Given the description of an element on the screen output the (x, y) to click on. 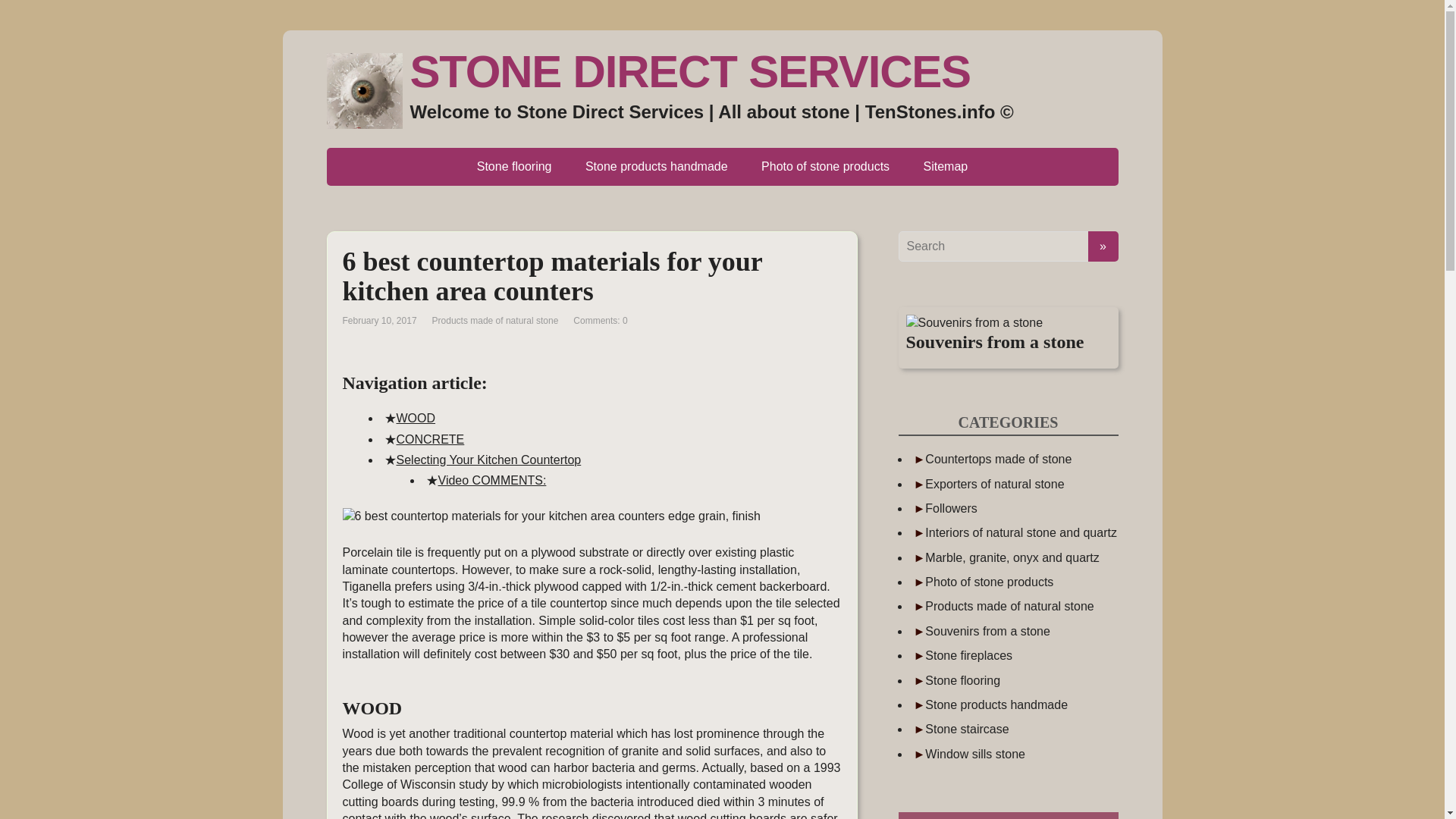
Exporters of natural stone (994, 483)
Stone flooring (962, 680)
Souvenirs from a stone (986, 631)
Comments: 0 (600, 320)
Video COMMENTS: (492, 480)
Window sills stone (974, 753)
Stone products handmade (995, 704)
Photo of stone products (988, 581)
Marble, granite, onyx and quartz (1011, 557)
Products made of natural stone (495, 320)
